Given the description of an element on the screen output the (x, y) to click on. 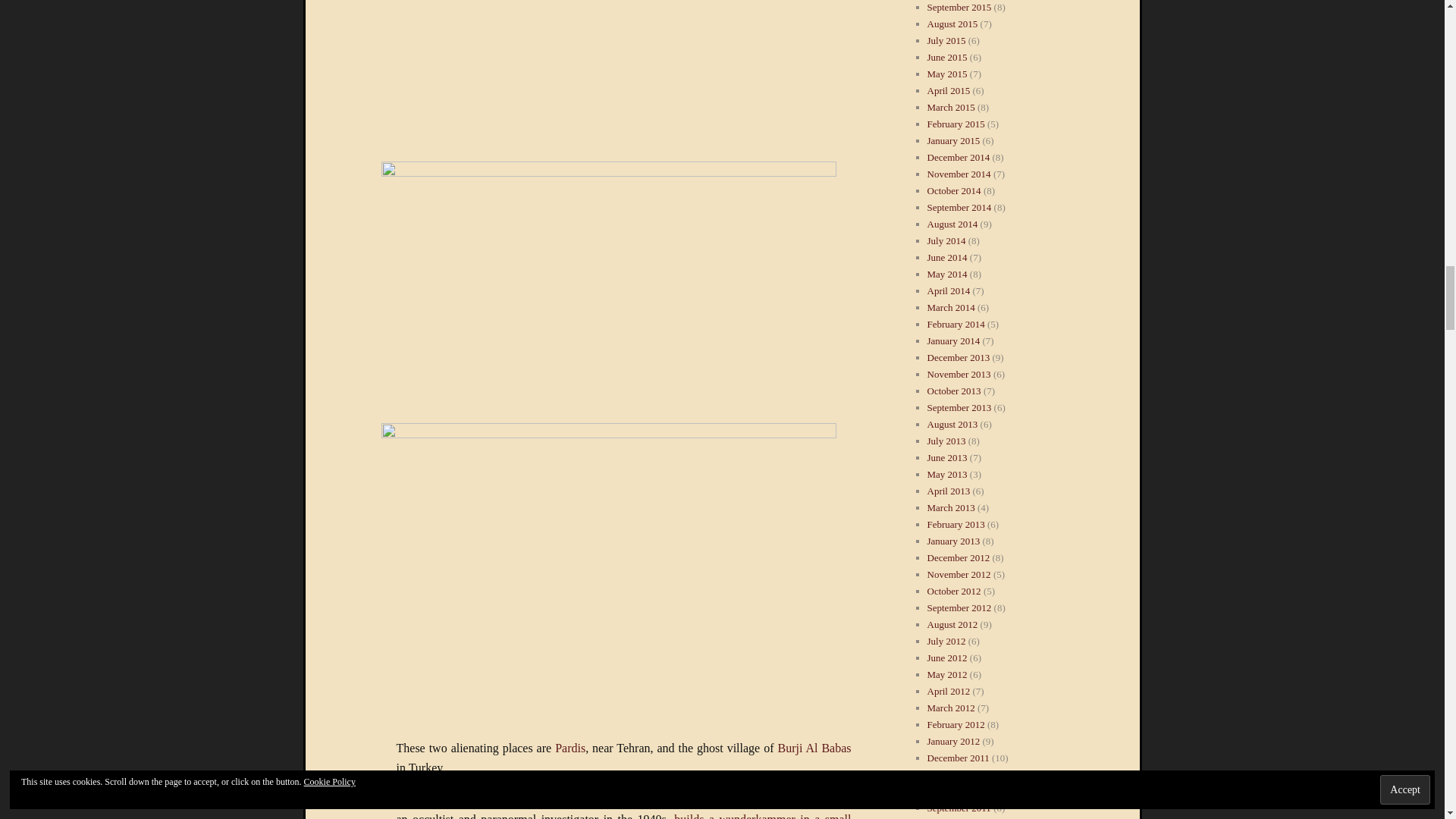
builds a wunderkammer in a small town in the Sienese Chianti (623, 816)
Pardis (569, 748)
Burji Al Babas (813, 748)
